Given the description of an element on the screen output the (x, y) to click on. 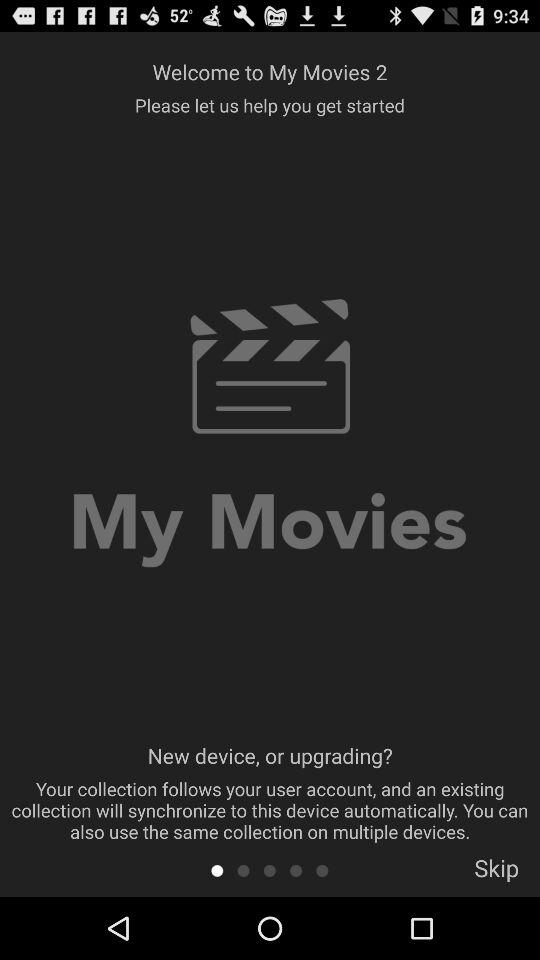
go next (269, 870)
